Given the description of an element on the screen output the (x, y) to click on. 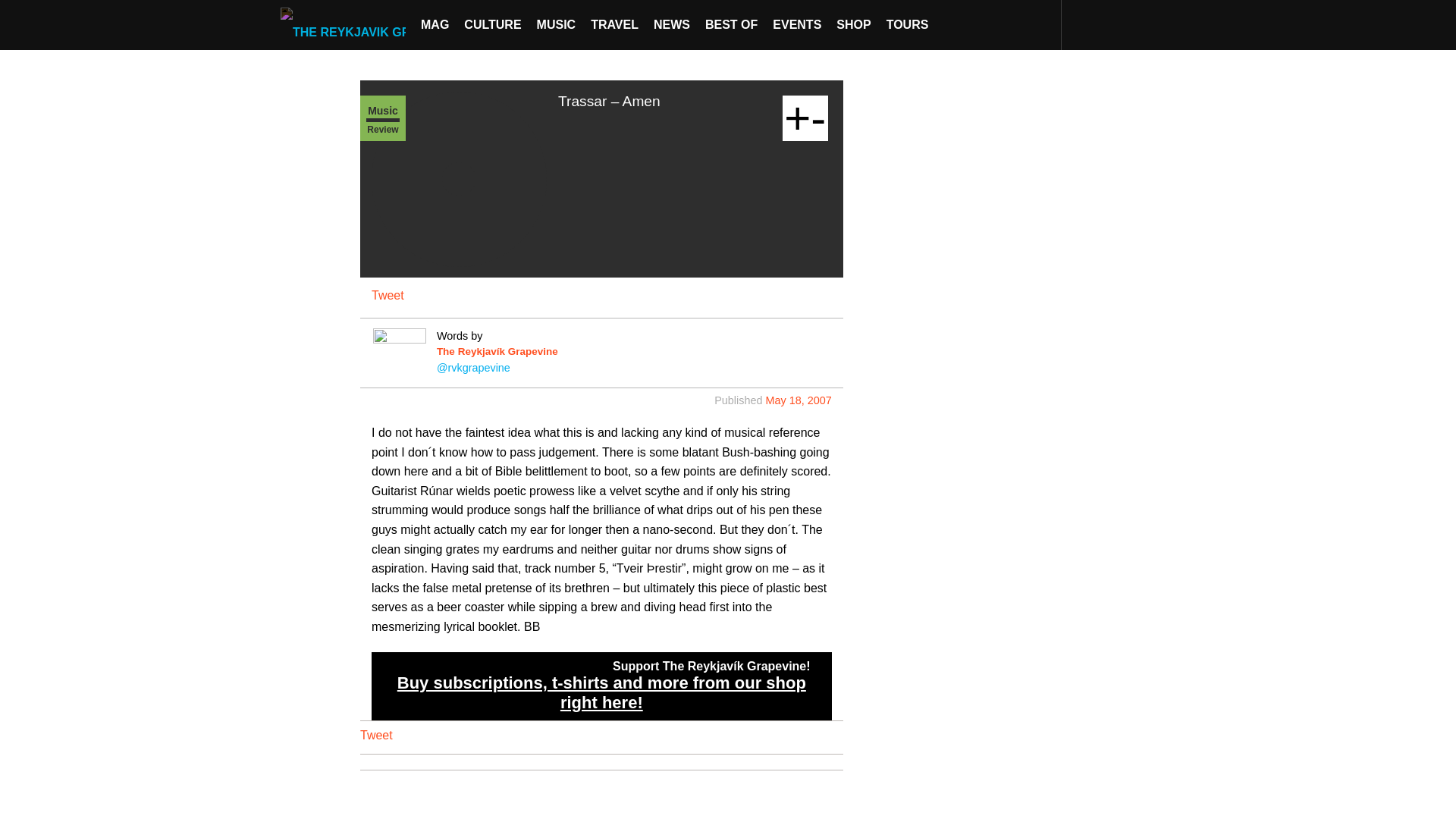
MUSIC (556, 24)
TRAVEL (614, 24)
EVENTS (796, 24)
BEST OF (731, 24)
CULTURE (492, 24)
TOURS (907, 24)
Tweet (387, 295)
NEWS (671, 24)
SHOP (852, 24)
